Given the description of an element on the screen output the (x, y) to click on. 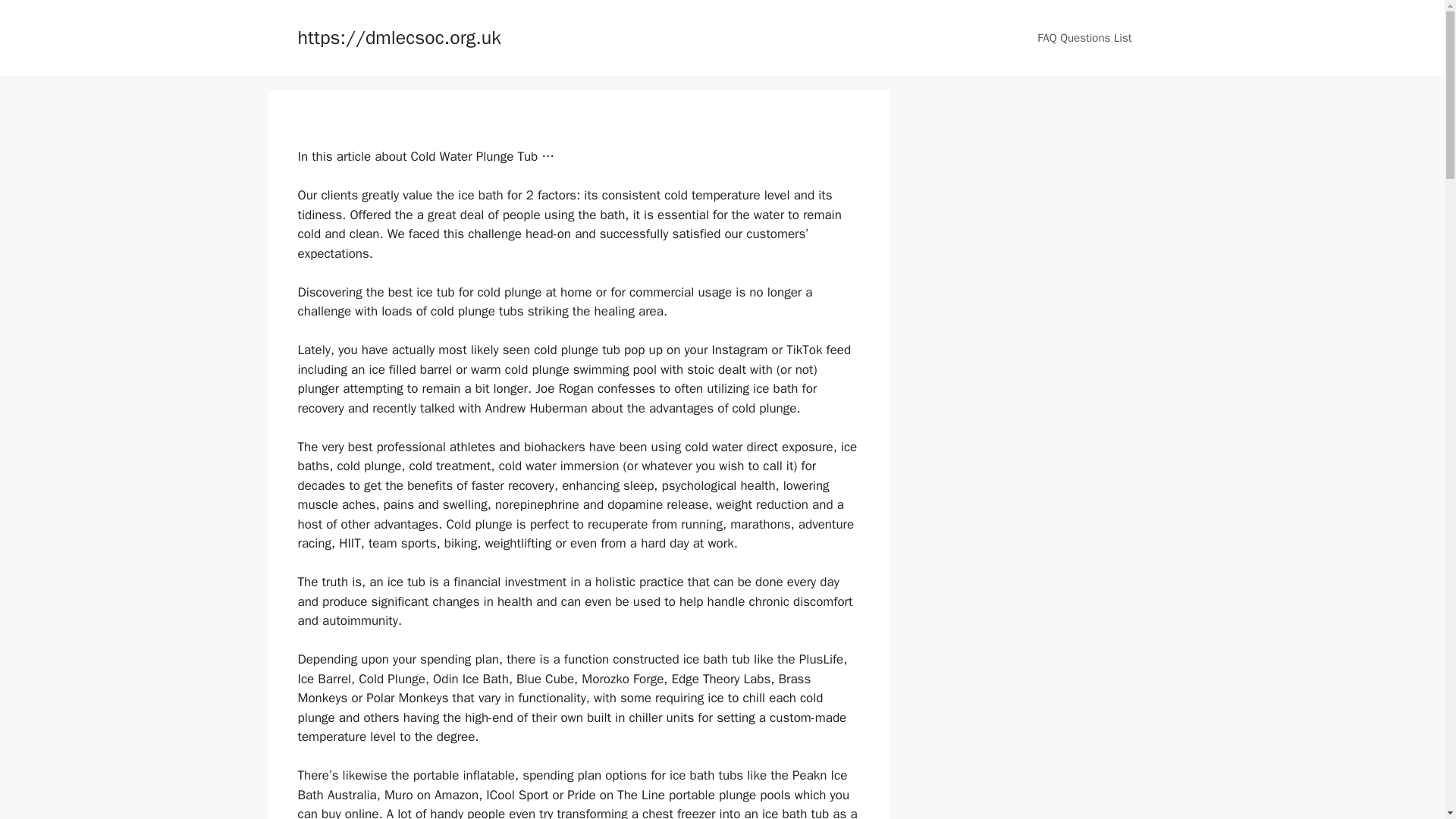
FAQ Questions List (1084, 37)
